Given the description of an element on the screen output the (x, y) to click on. 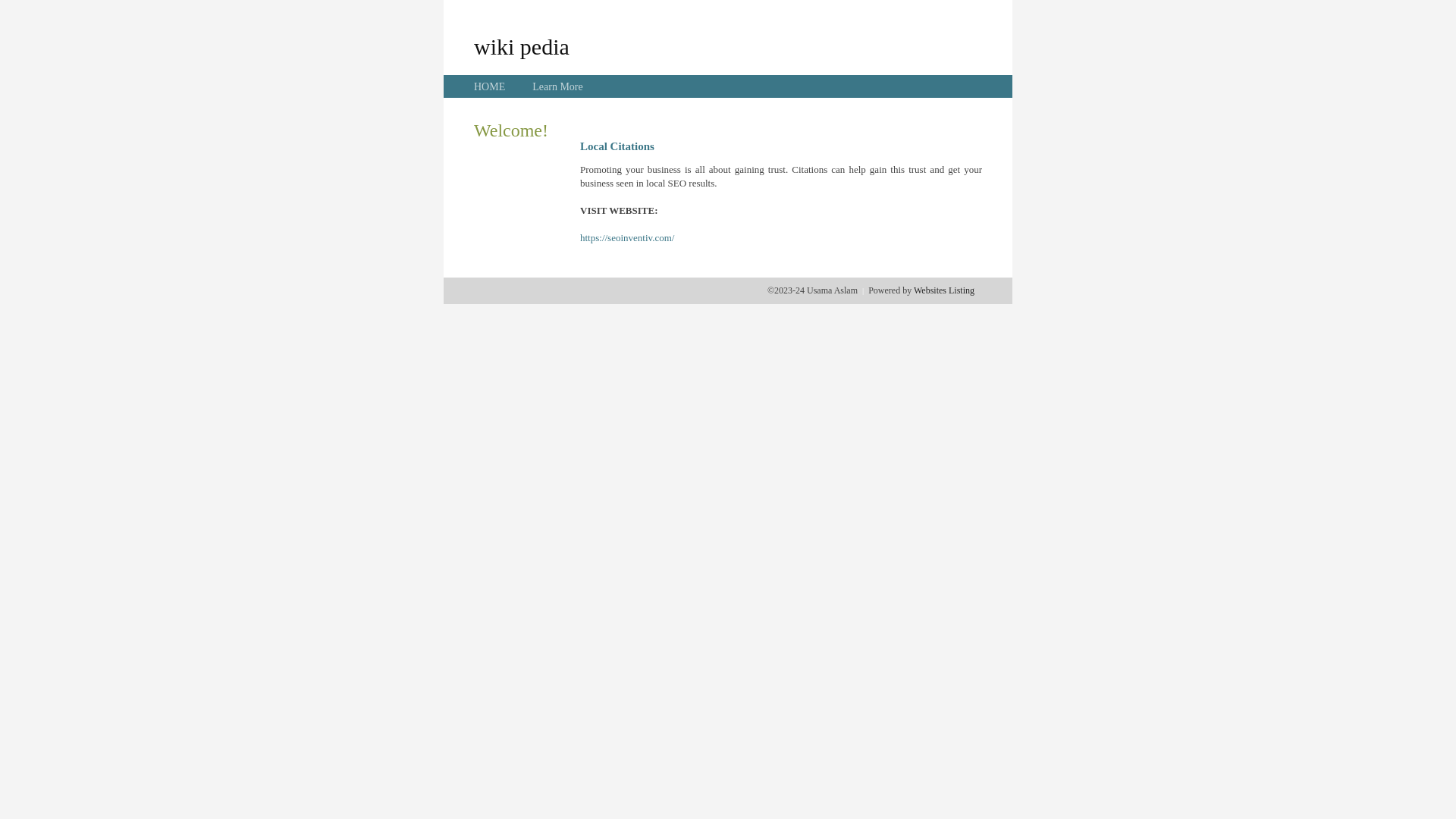
Learn More Element type: text (557, 86)
HOME Element type: text (489, 86)
https://seoinventiv.com/ Element type: text (627, 237)
wiki pedia Element type: text (521, 46)
Websites Listing Element type: text (943, 290)
